Given the description of an element on the screen output the (x, y) to click on. 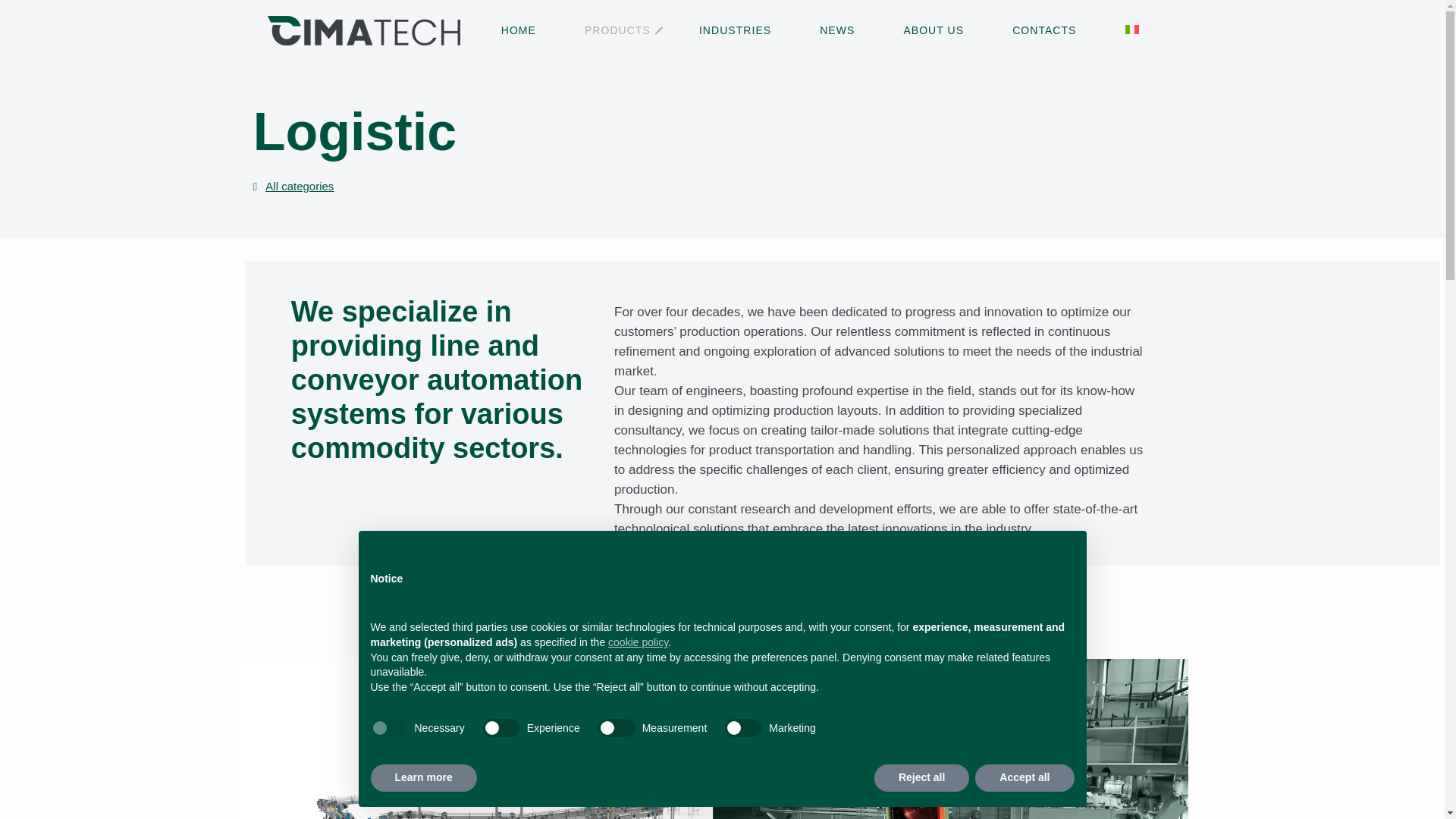
false (501, 728)
PRODUCTS (617, 30)
CONTACTS (1044, 30)
NEWS (836, 30)
false (743, 728)
INDUSTRIES (734, 30)
false (616, 728)
ABOUT US (933, 30)
HOME (518, 30)
true (387, 728)
